Given the description of an element on the screen output the (x, y) to click on. 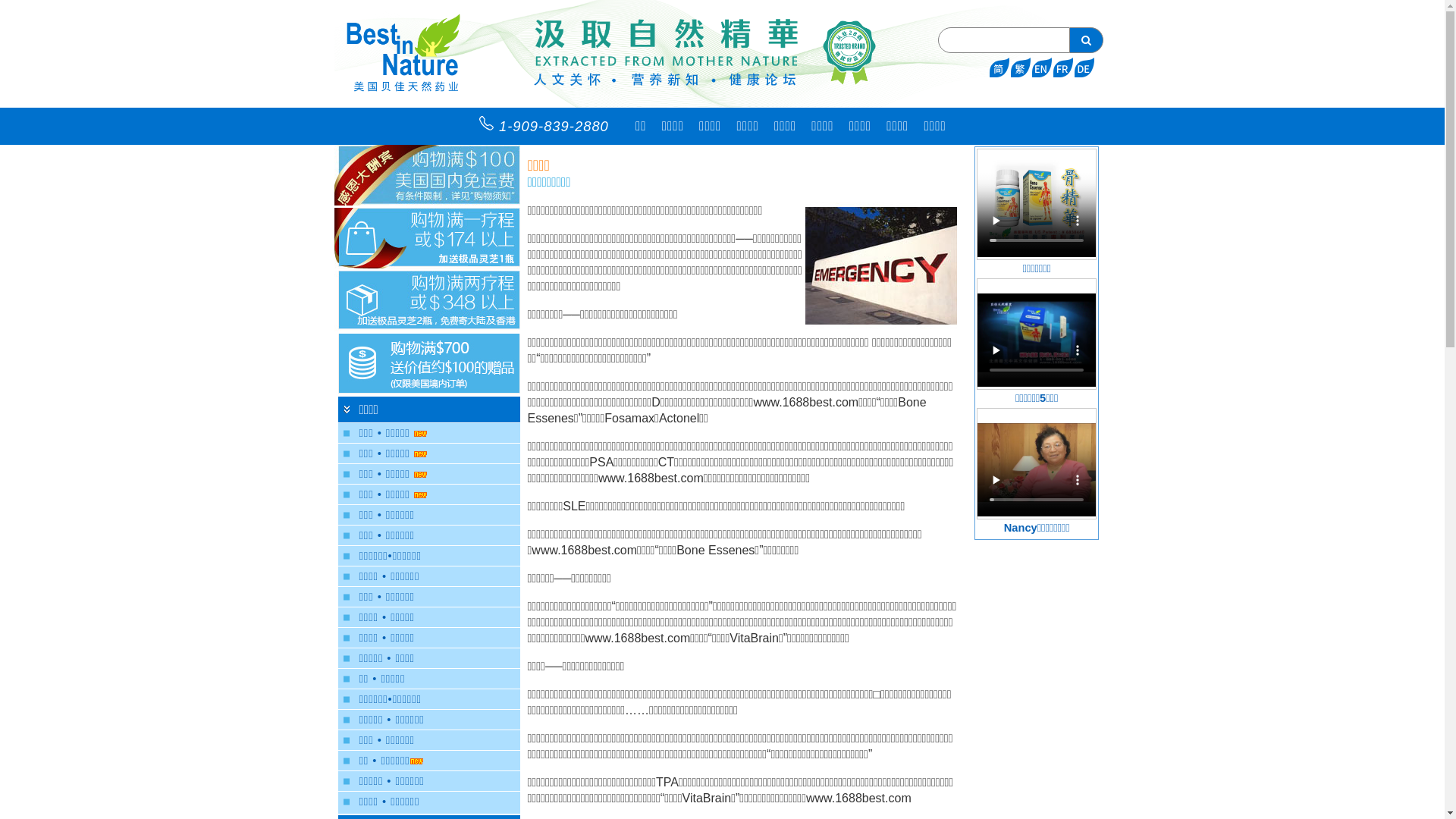
1-909-839-2880 Element type: text (549, 126)
